Given the description of an element on the screen output the (x, y) to click on. 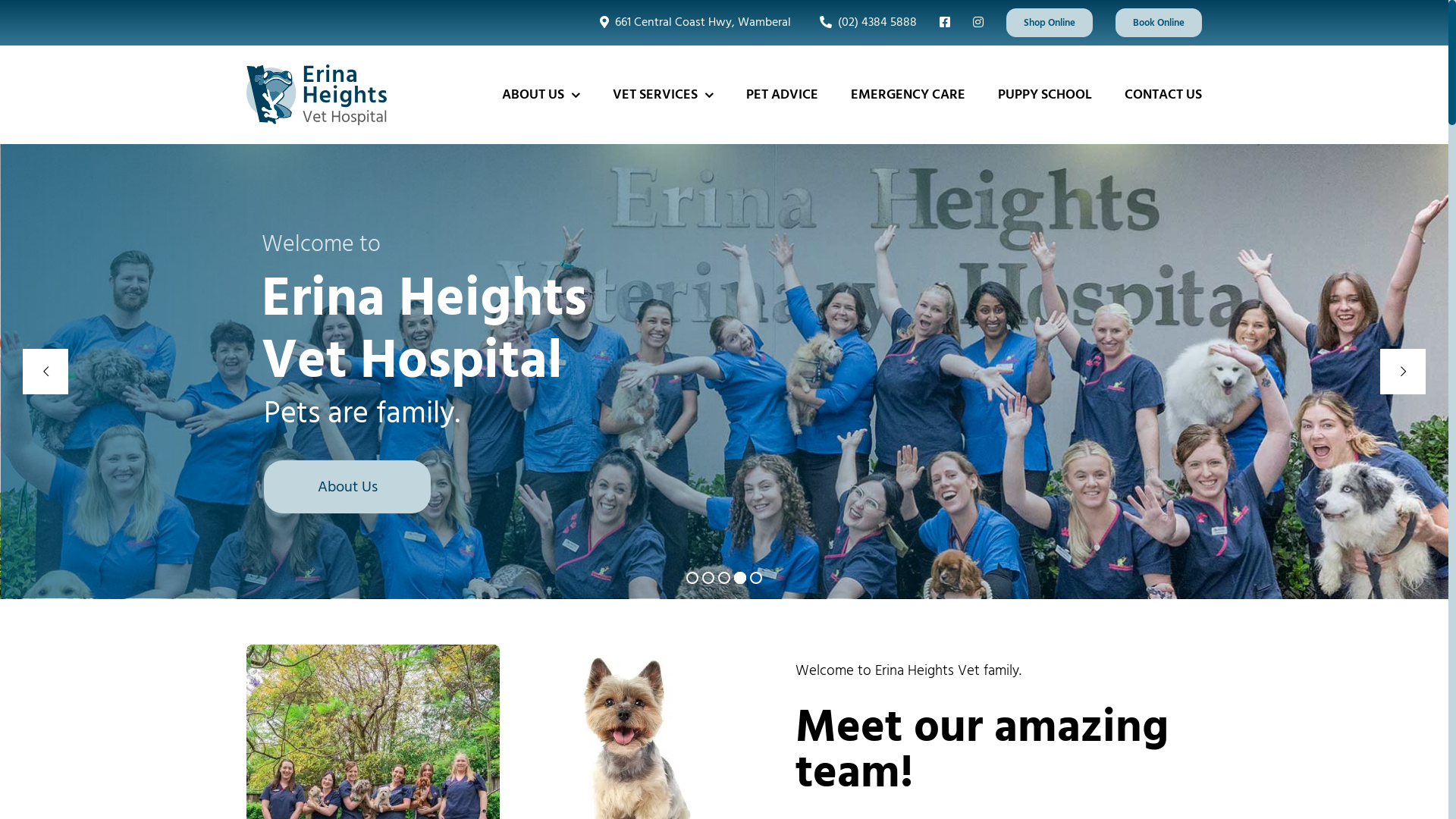
CONTACT US Element type: text (1162, 94)
EMERGENCY CARE Element type: text (907, 94)
Shop Online Element type: text (1049, 22)
VET SERVICES Element type: text (662, 94)
erina-heights-vet-family Element type: hover (372, 650)
661 Central Coast Hwy, Wamberal Element type: text (691, 22)
PUPPY SCHOOL Element type: text (1044, 94)
(02) 4384 5888 Element type: text (864, 22)
ABOUT US Element type: text (541, 94)
erinaheightsvet-hero-2 Element type: hover (630, 650)
PET ADVICE Element type: text (782, 94)
Book Online Element type: text (1158, 22)
